Given the description of an element on the screen output the (x, y) to click on. 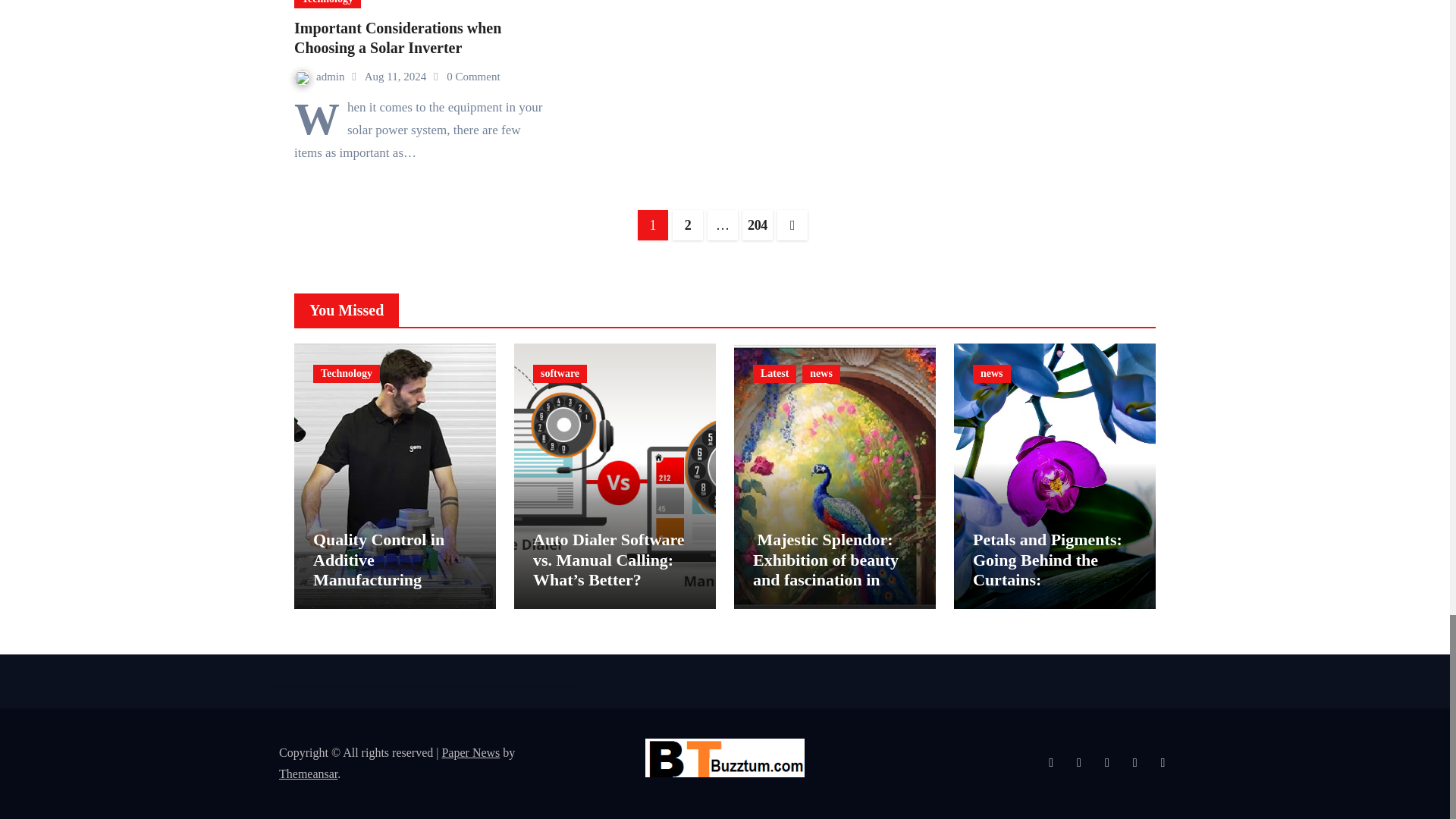
Permalink to: Quality Control in Additive Manufacturing (378, 558)
